Given the description of an element on the screen output the (x, y) to click on. 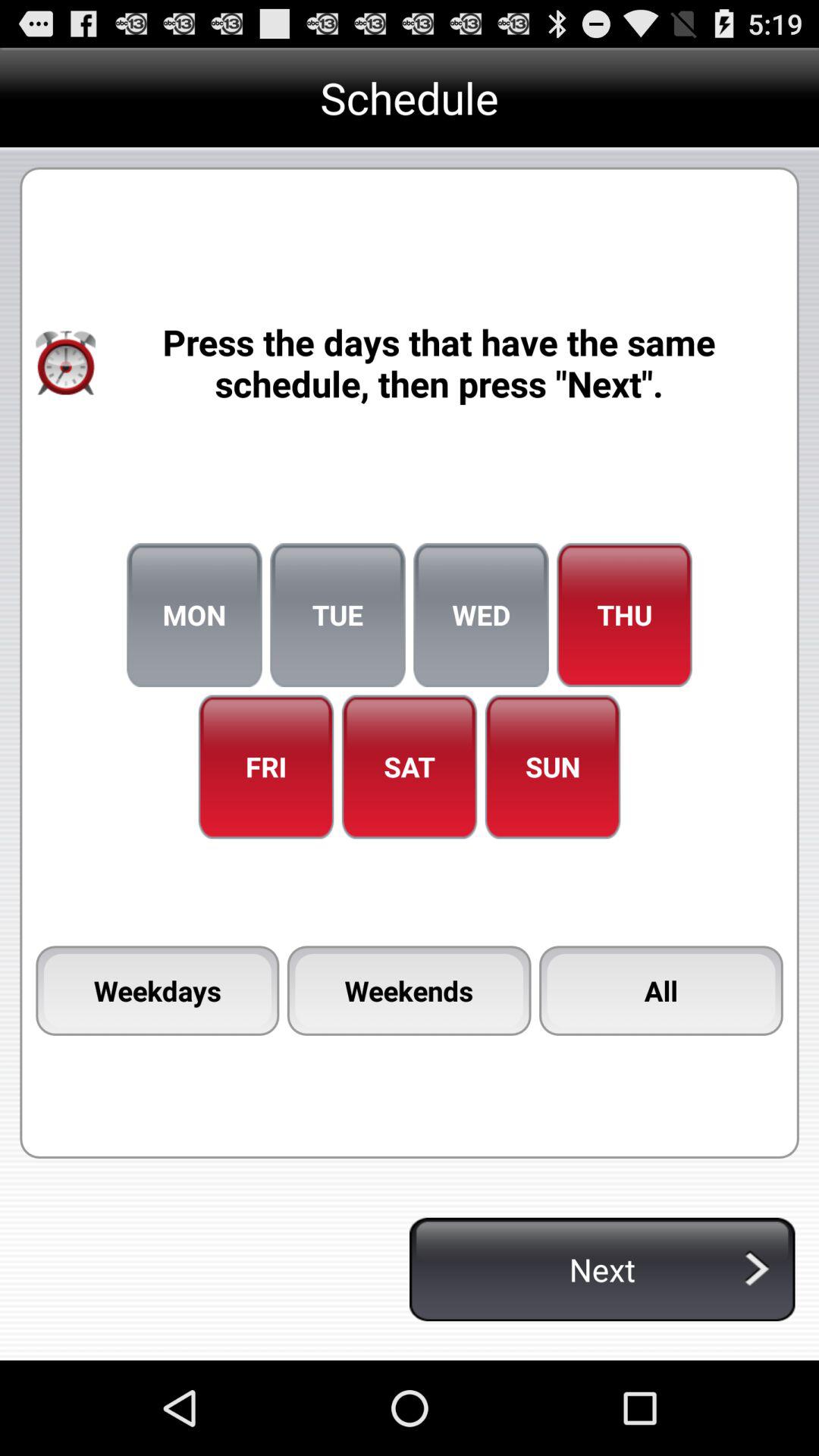
turn off the item to the left of sat (265, 766)
